Given the description of an element on the screen output the (x, y) to click on. 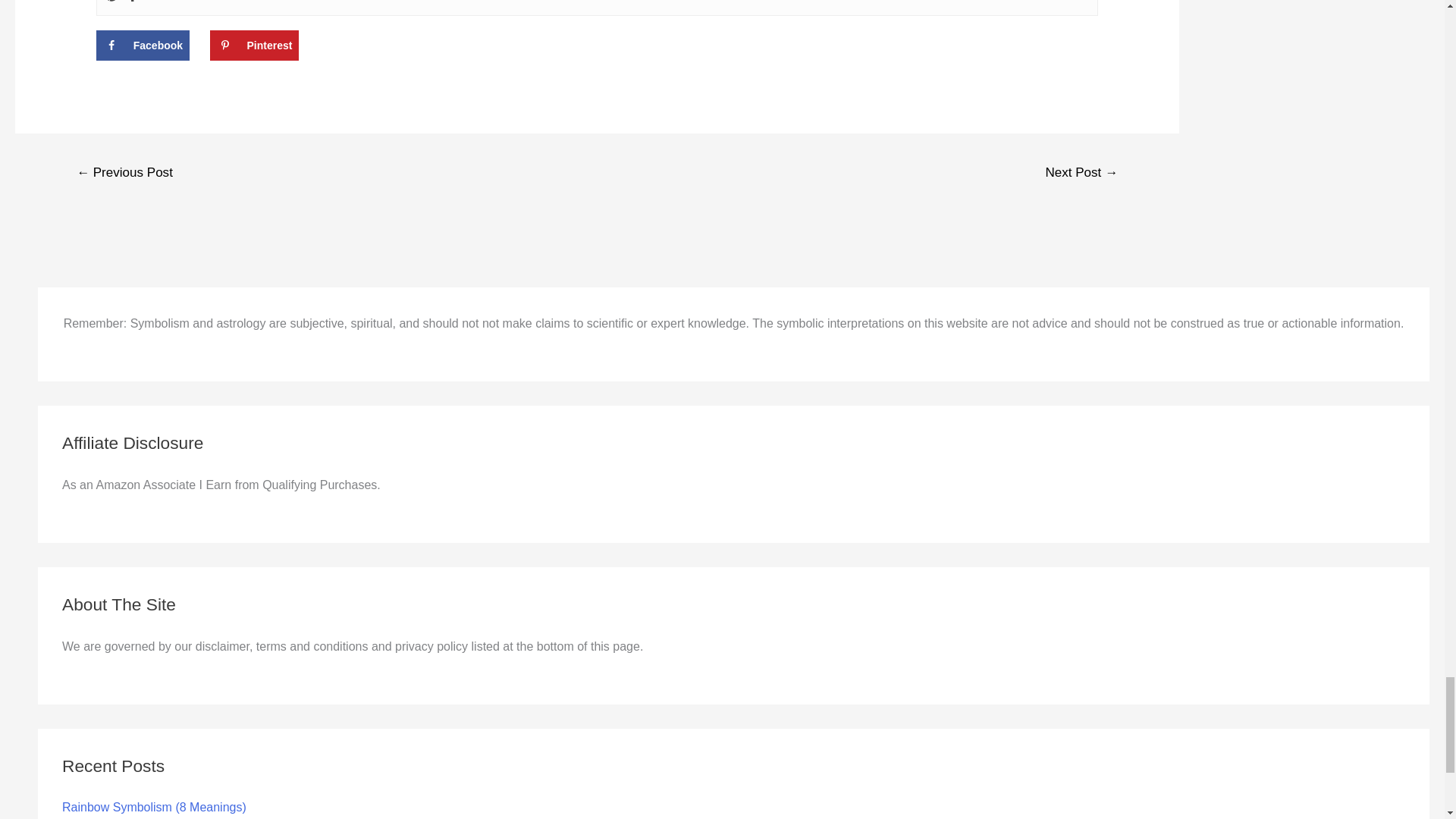
Save to Pinterest (253, 45)
Youtube (153, 2)
Pinterest (110, 2)
Pinterest (253, 45)
Share on Facebook (142, 45)
Facebook (132, 2)
Facebook (142, 45)
